Given the description of an element on the screen output the (x, y) to click on. 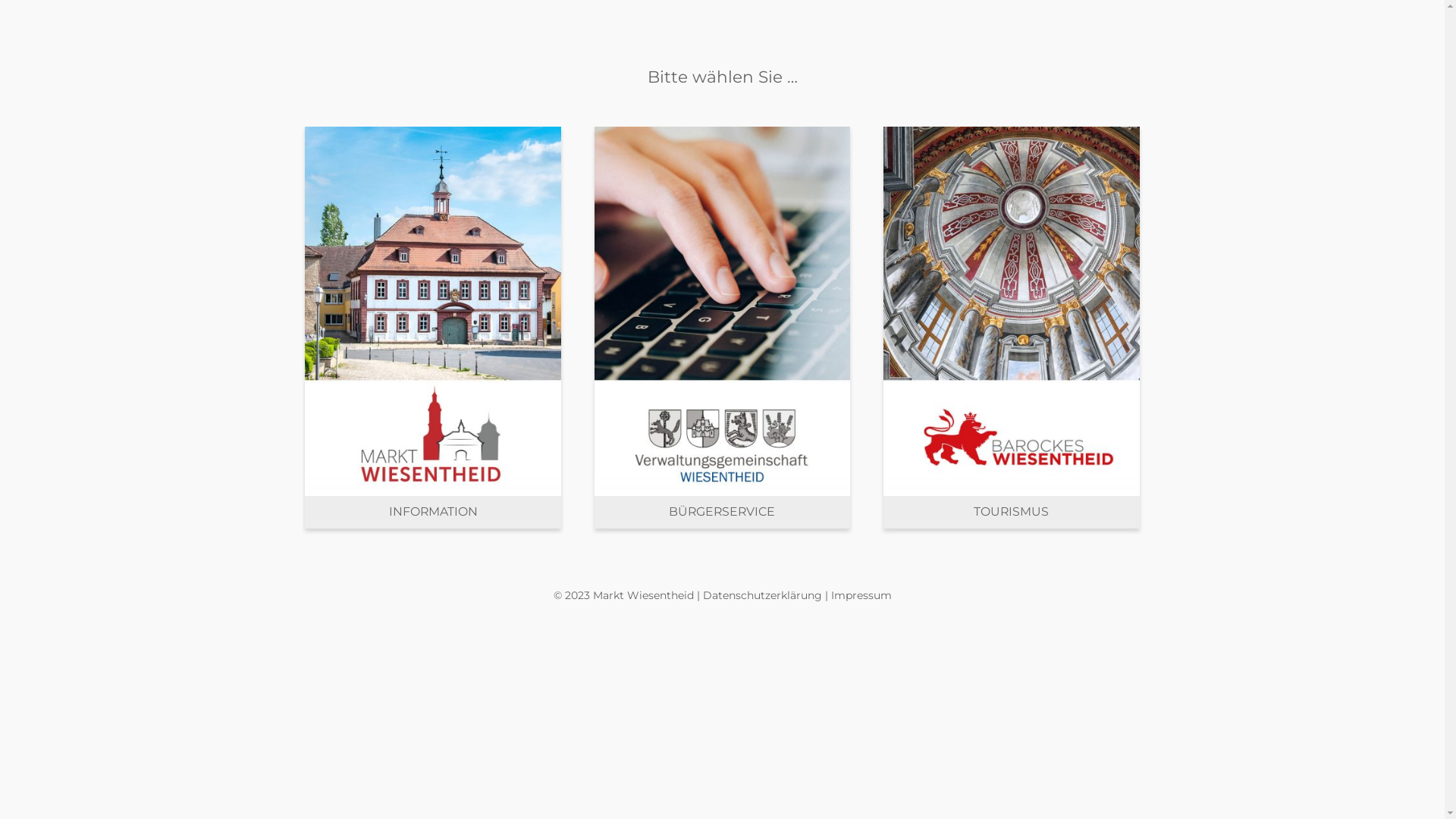
Impressum Element type: text (861, 595)
